Given the description of an element on the screen output the (x, y) to click on. 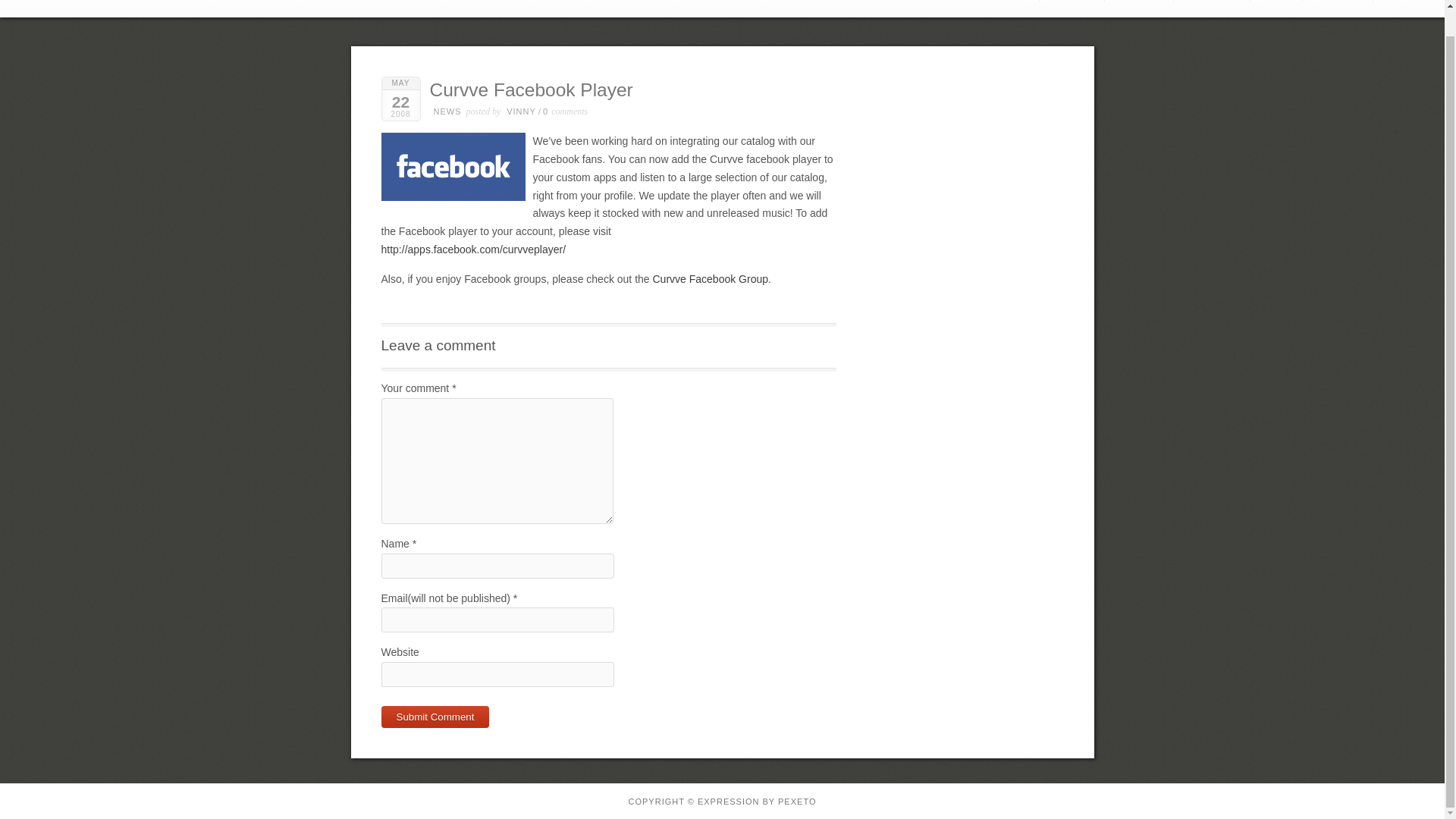
ABOUT US (1001, 0)
Curvve on YouTube (1423, 4)
Facebook Logo (456, 170)
ARTISTS (1071, 0)
Curvve Facebook Group (710, 278)
CONTACT (1338, 0)
Curvve on Twitter (1407, 4)
0 (547, 111)
CATALOG (1140, 0)
Curvve on Facebook (1389, 4)
Submit Comment (434, 716)
Submit Comment (434, 716)
NEWS (447, 111)
BLOG (1276, 0)
Posts by vinny (520, 111)
